Given the description of an element on the screen output the (x, y) to click on. 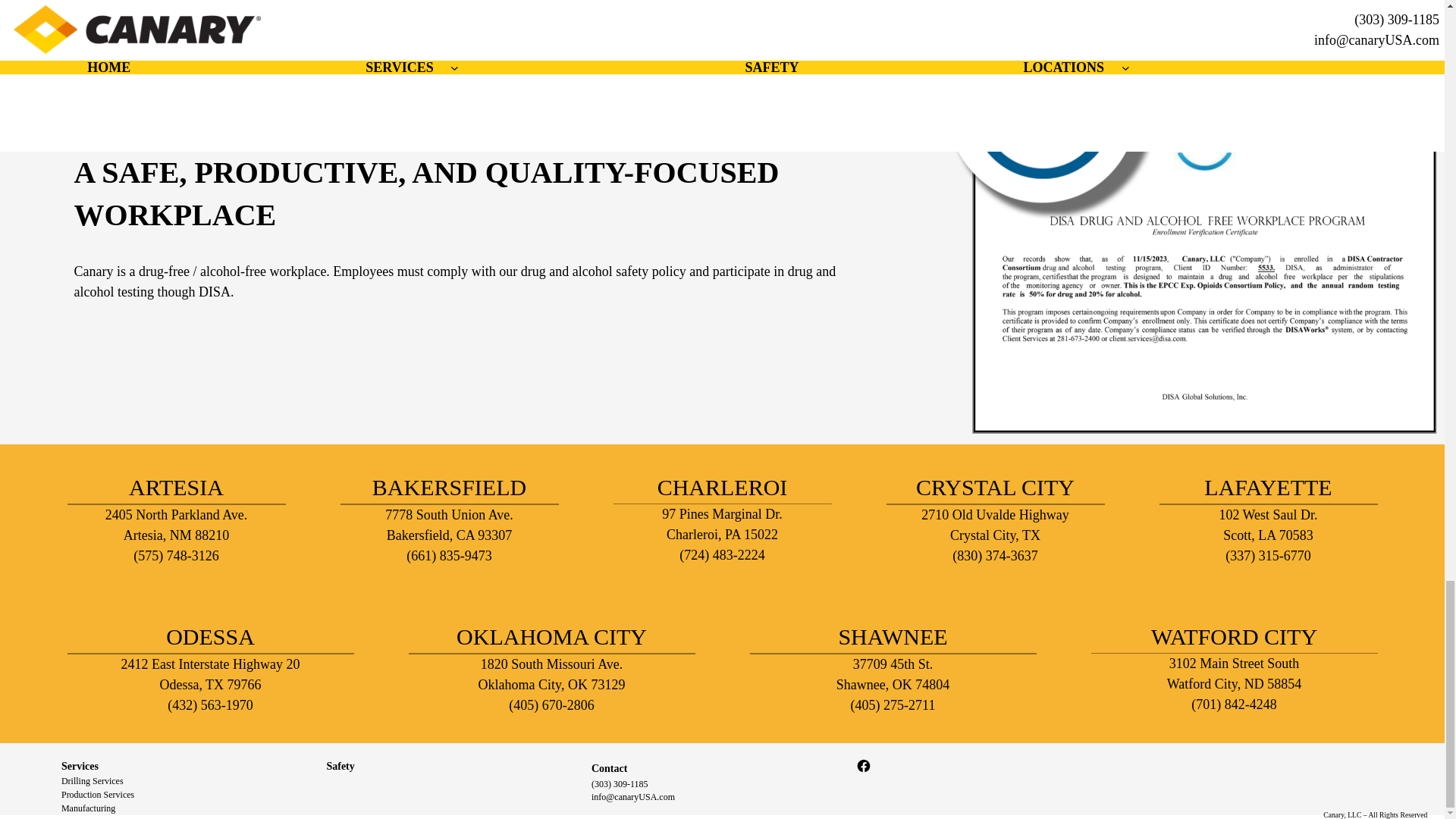
ARTESIA (176, 487)
Safety (339, 766)
BAKERSFIELD (448, 487)
CRYSTAL CITY (994, 487)
OKLAHOMA CITY (551, 636)
Drilling Services (92, 780)
Manufacturing (88, 808)
Production Services (97, 794)
ODESSA (209, 636)
Facebook (863, 765)
CHARLEROI (722, 487)
LAFAYETTE (1268, 487)
WATFORD CITY (1234, 636)
SHAWNEE (892, 636)
